Given the description of an element on the screen output the (x, y) to click on. 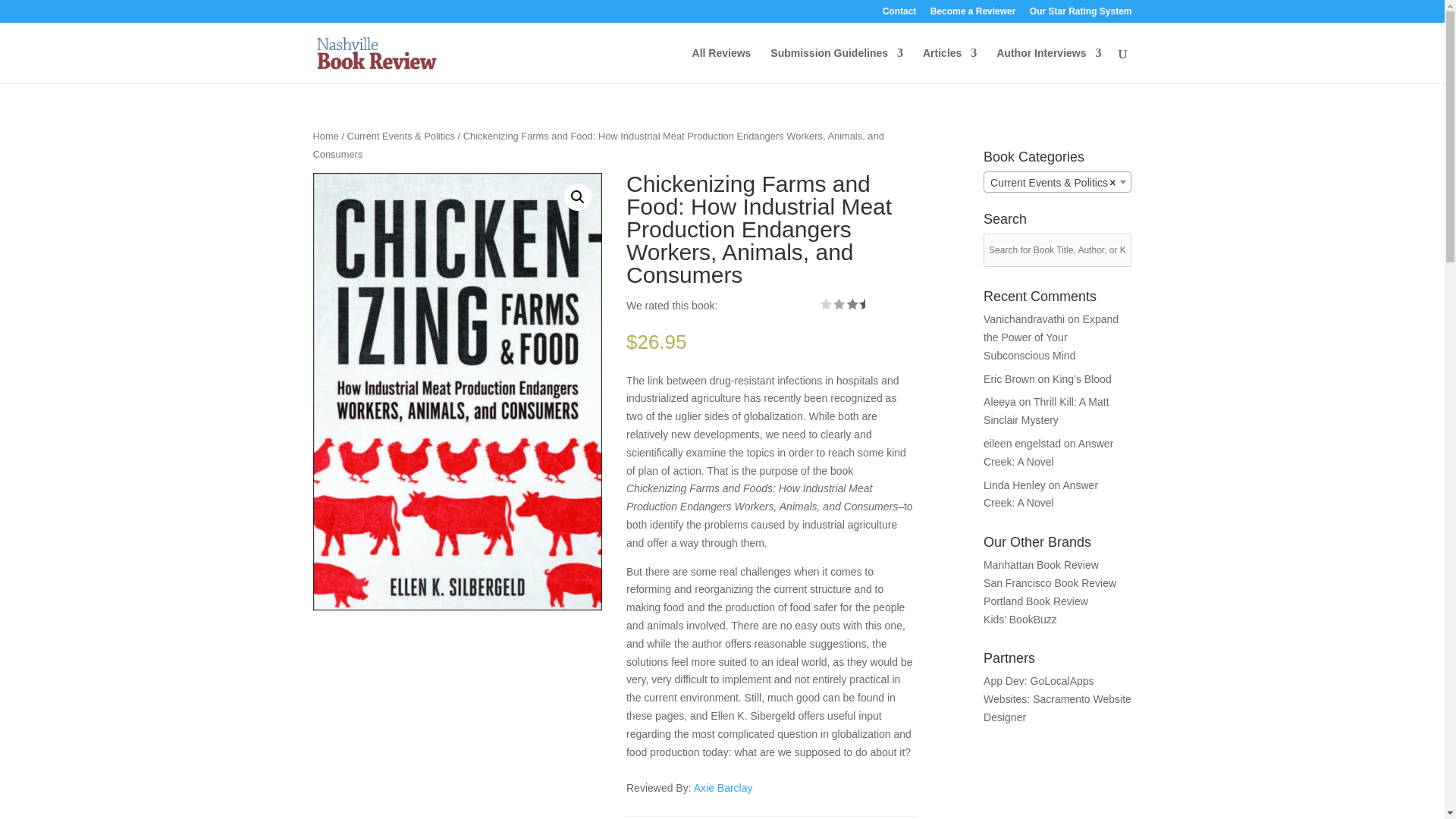
Contact (899, 14)
Author Interviews (1047, 65)
All Reviews (722, 65)
Become a Reviewer (973, 14)
Home (325, 135)
Submission Guidelines (836, 65)
Articles (949, 65)
Our Star Rating System (1080, 14)
